Given the description of an element on the screen output the (x, y) to click on. 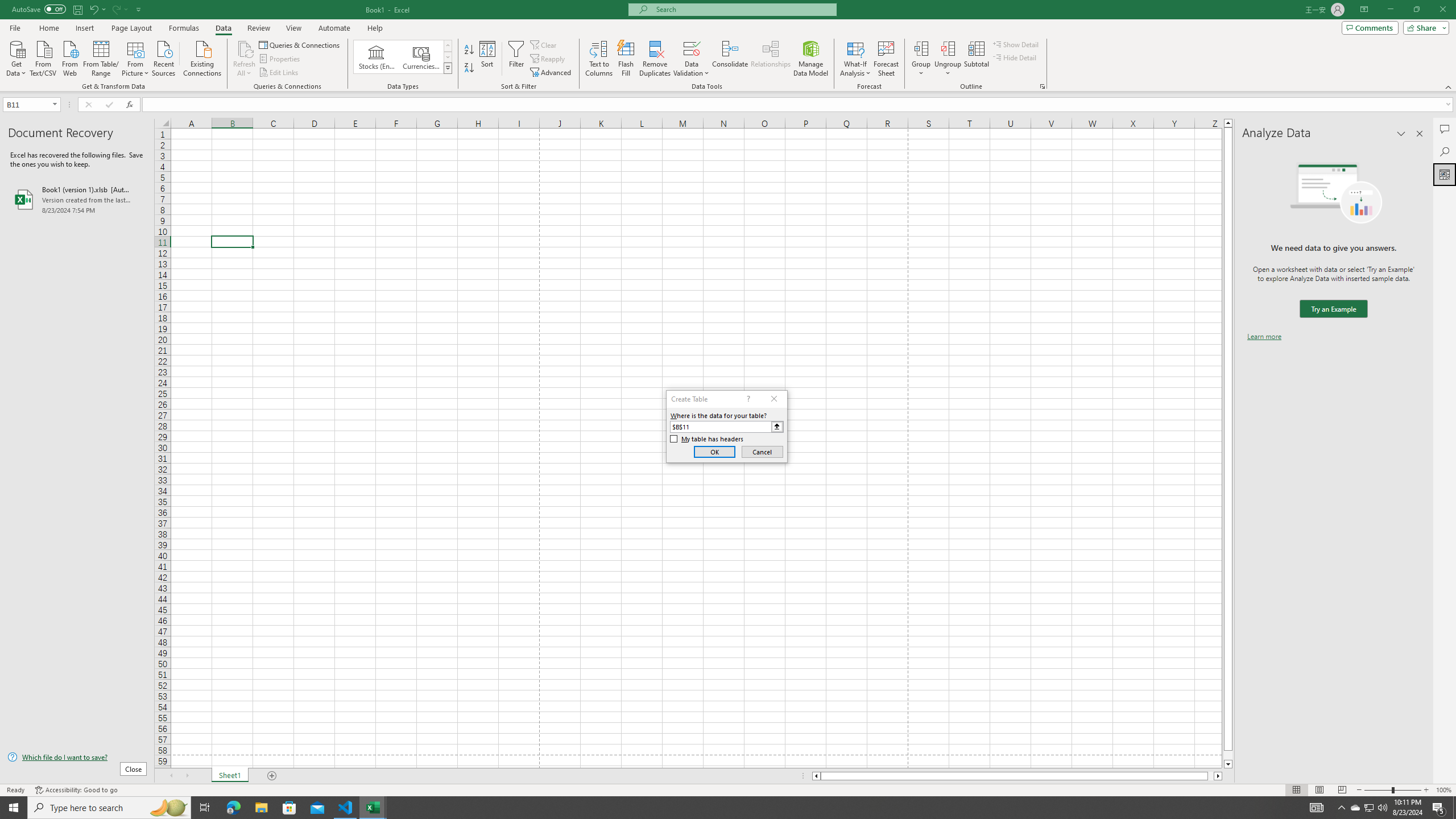
Sort Z to A (469, 67)
Filter (515, 58)
Sort A to Z (469, 49)
Show Detail (1016, 44)
